Given the description of an element on the screen output the (x, y) to click on. 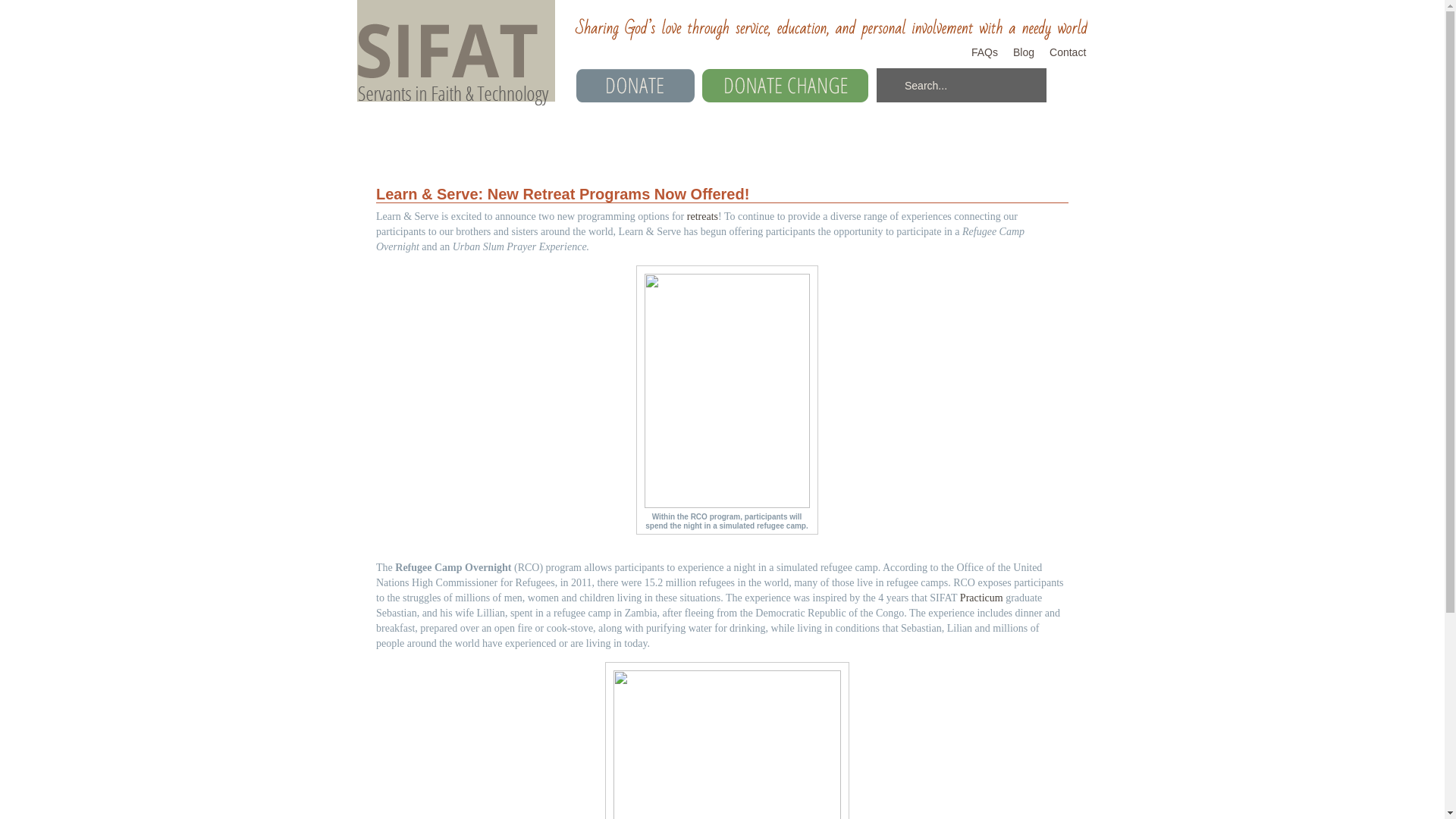
International Missions (677, 140)
Search... (961, 85)
Training (522, 140)
new learn and serve programs slum prayer experience blog (726, 740)
FAQs (984, 51)
Contact (1064, 51)
About Us (413, 140)
Blog (1024, 51)
Get Involved (995, 140)
